Given the description of an element on the screen output the (x, y) to click on. 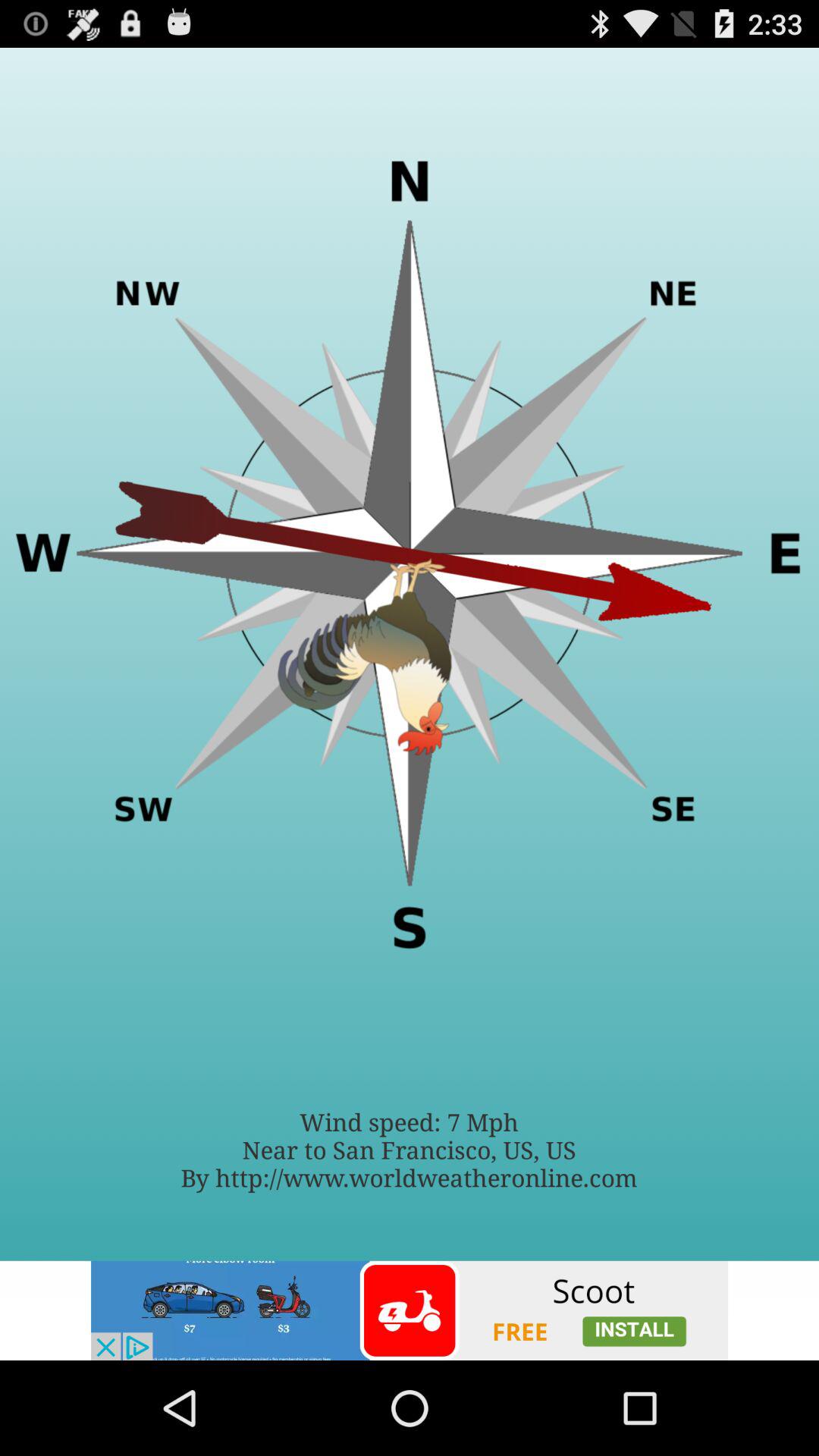
advertisement for scoot (409, 1310)
